Given the description of an element on the screen output the (x, y) to click on. 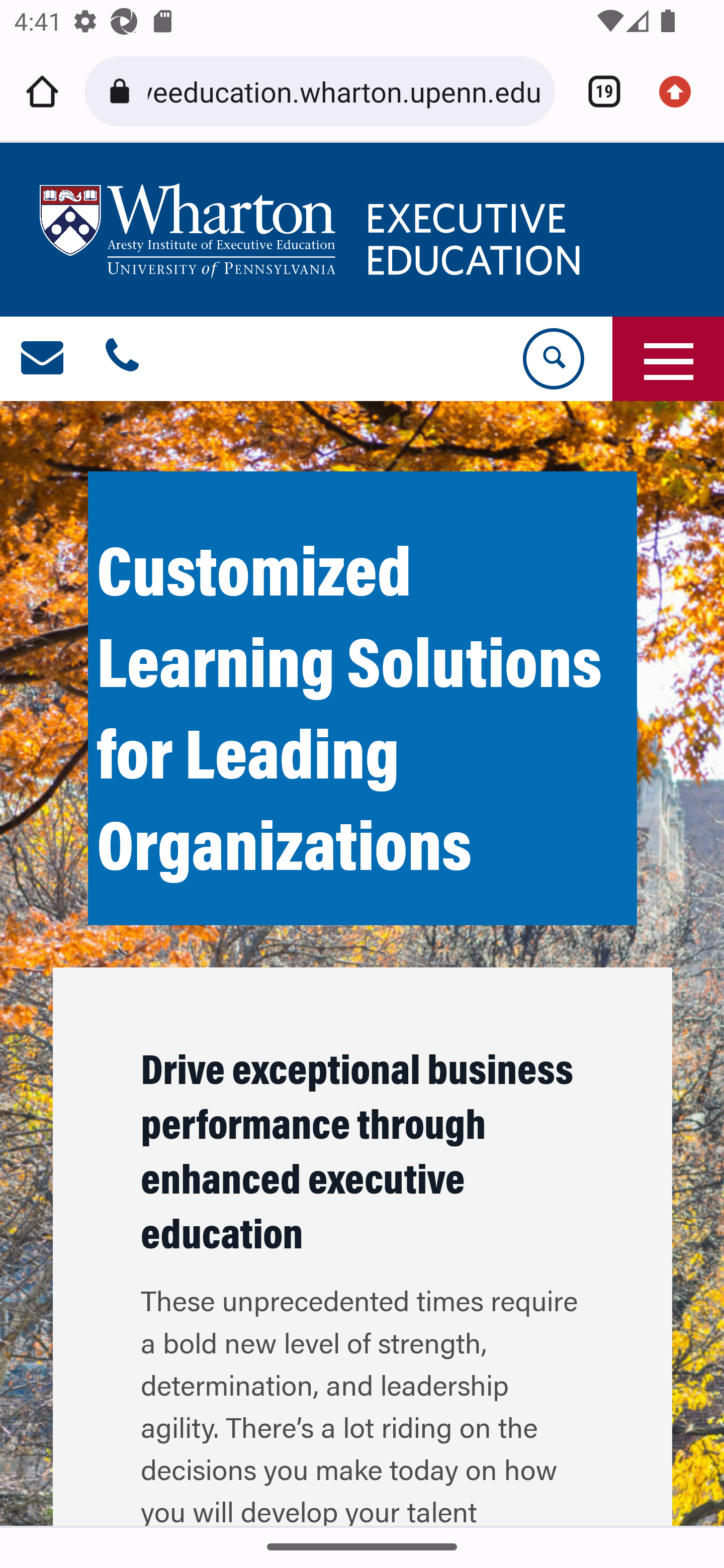
Home (42, 91)
Connection is secure (122, 91)
Switch or close tabs (597, 91)
Update available. More options (681, 91)
Wharton Executive Education (313, 230)
 (43, 358)
 (122, 358)
Mobile menu toggle (668, 358)
 Search Wharton  (552, 358)
